Given the description of an element on the screen output the (x, y) to click on. 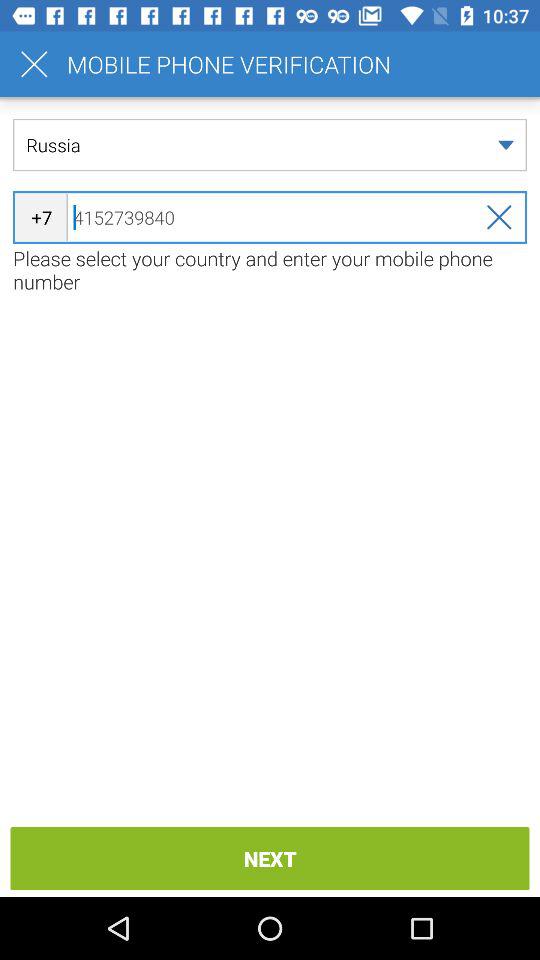
tap the icon above next icon (269, 270)
